Given the description of an element on the screen output the (x, y) to click on. 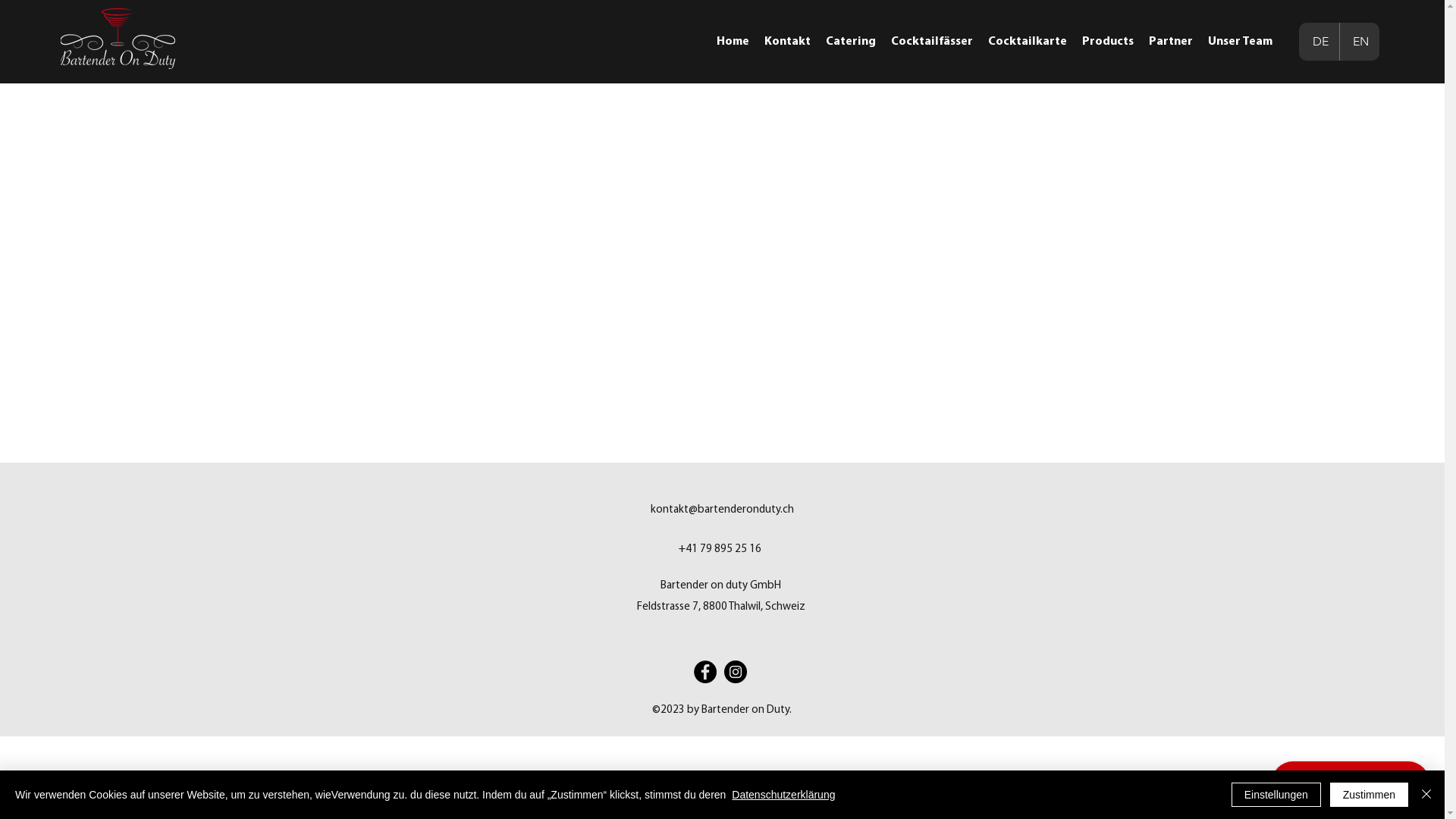
Einstellungen Element type: text (1276, 794)
Cocktailkarte Element type: text (1027, 41)
Zustimmen Element type: text (1369, 794)
Partner Element type: text (1170, 41)
Catering Element type: text (850, 41)
kontakt@bartenderonduty.ch Element type: text (721, 509)
Products Element type: text (1107, 41)
DE Element type: text (1319, 41)
Home Element type: text (732, 41)
Kontakt Element type: text (787, 41)
EN Element type: text (1359, 41)
Unser Team Element type: text (1240, 41)
